Given the description of an element on the screen output the (x, y) to click on. 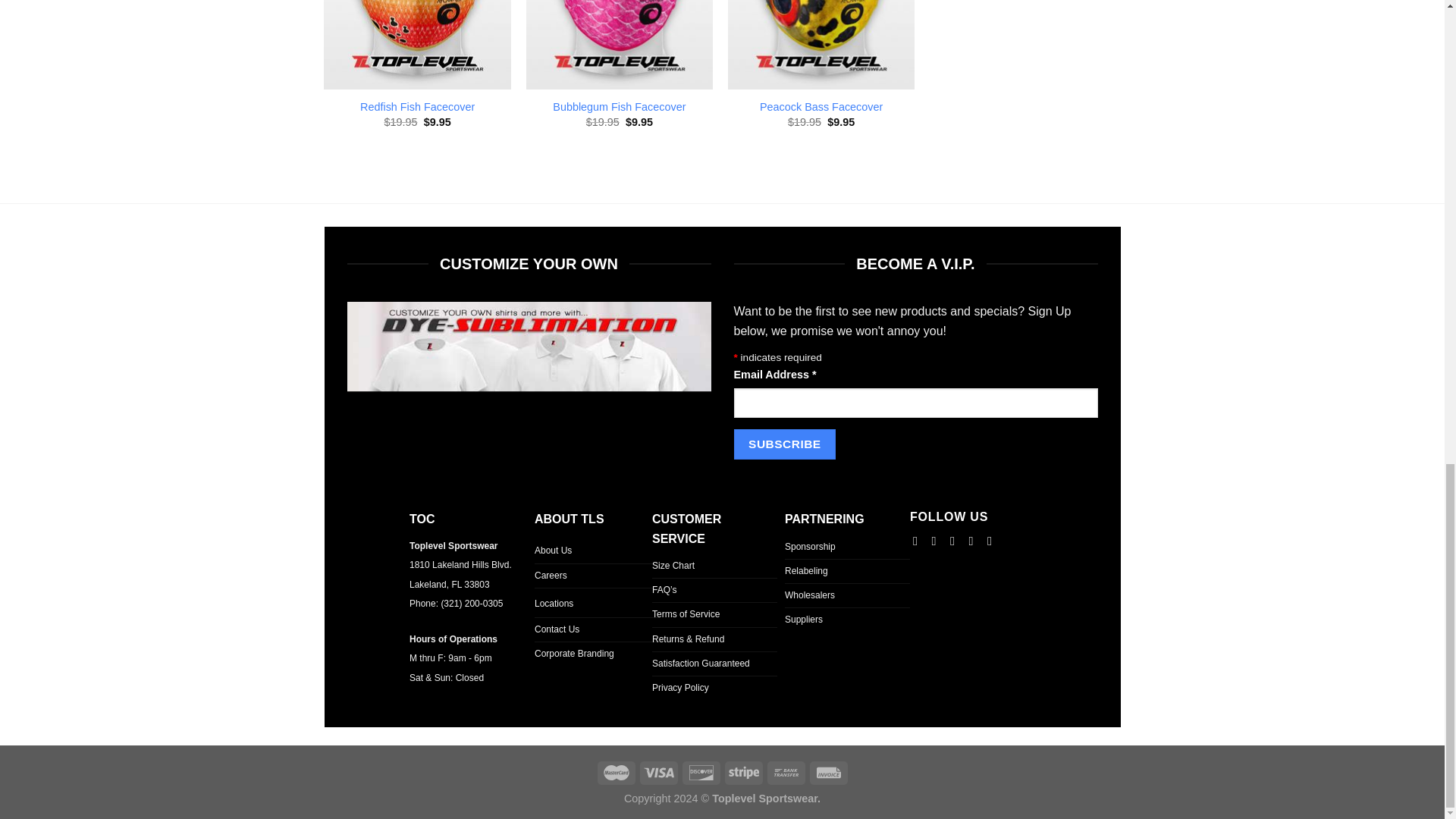
Follow on Facebook (918, 540)
Bubblegum Fish Facecover (619, 106)
Follow on Instagram (937, 540)
Subscribe (784, 443)
Follow on Twitter (956, 540)
Redfish Fish Facecover (416, 106)
